Given the description of an element on the screen output the (x, y) to click on. 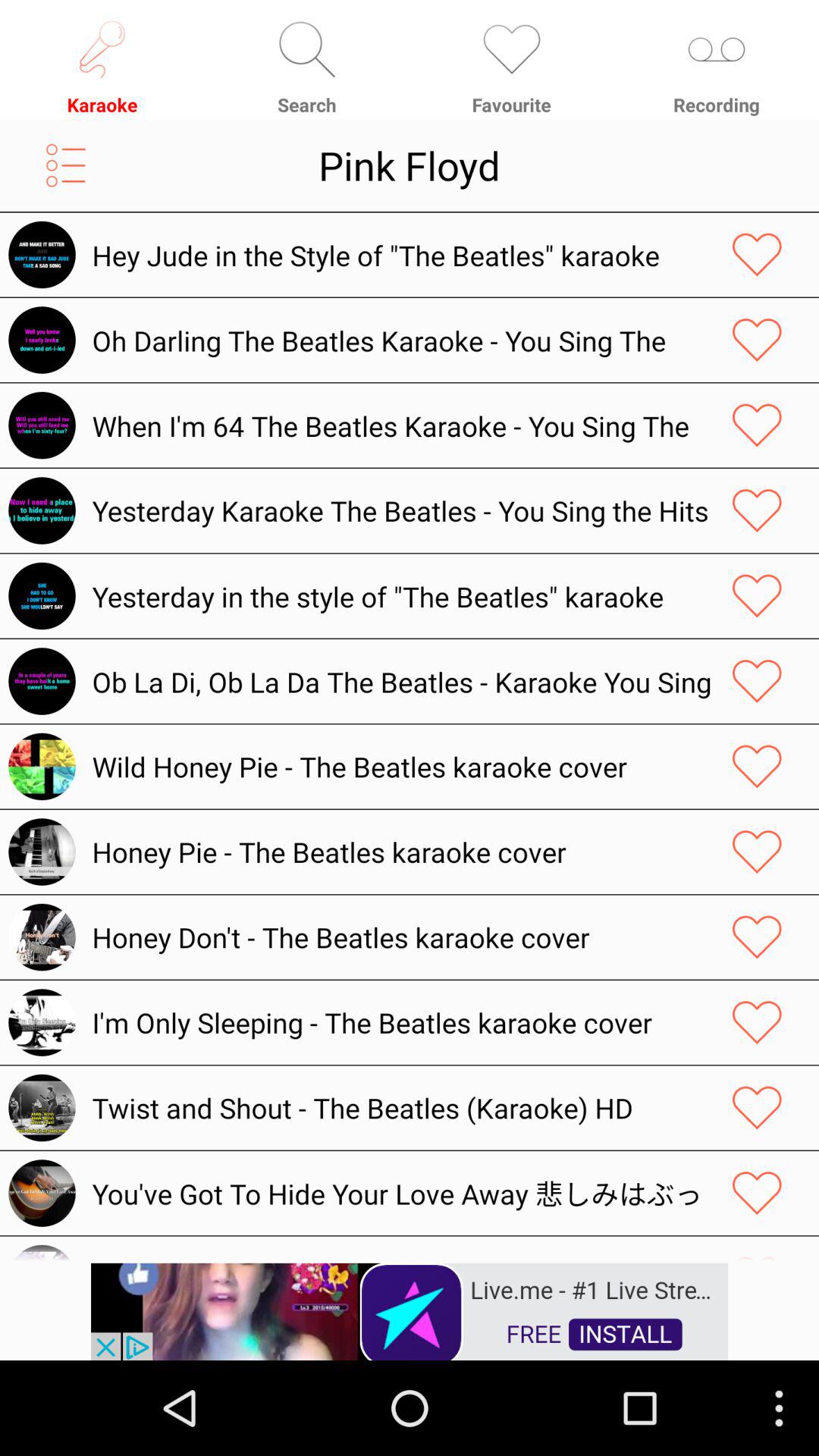
open advertisement (409, 1310)
